Given the description of an element on the screen output the (x, y) to click on. 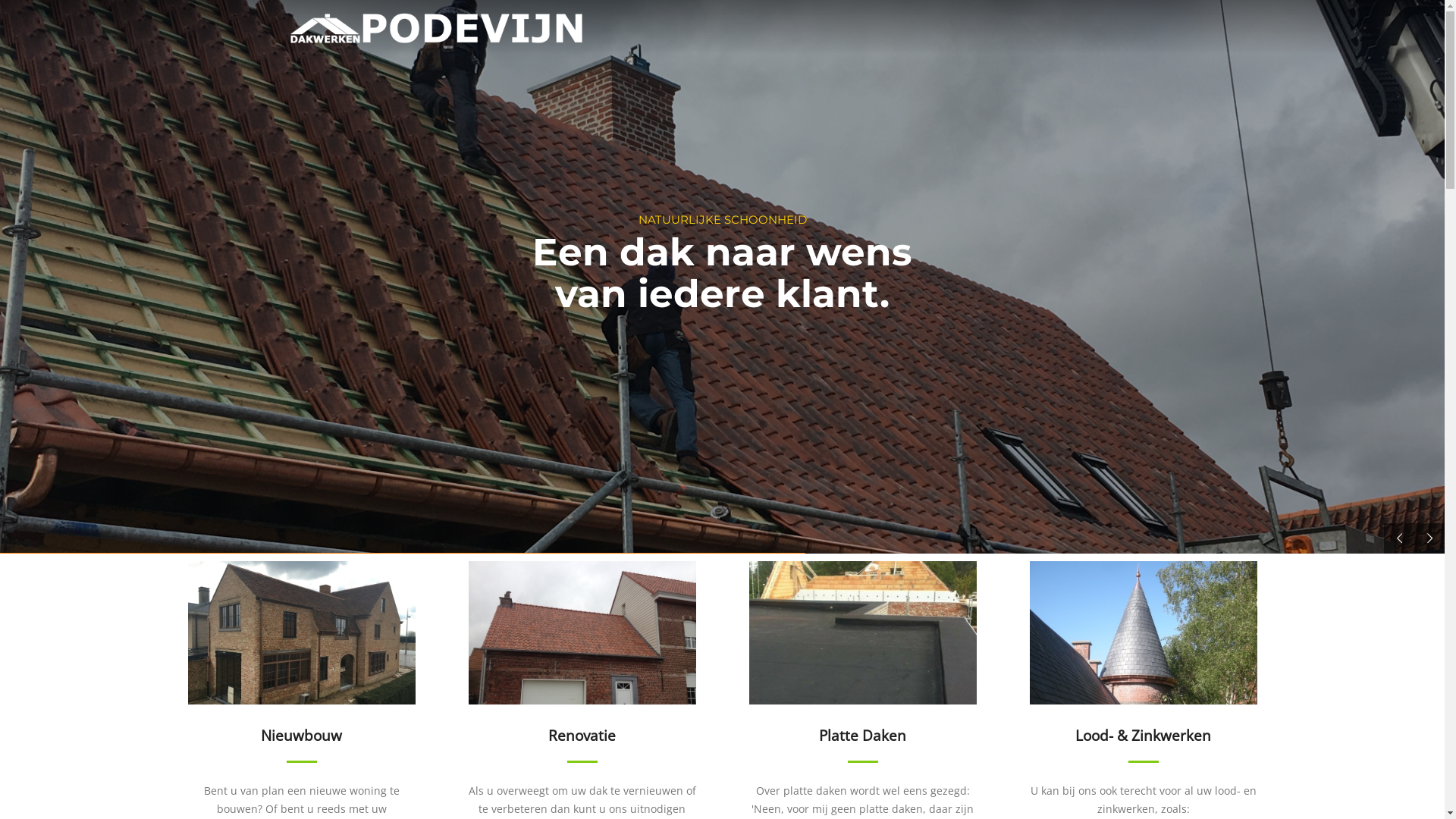
Nieuwbouw Element type: text (300, 661)
Platte Daken Element type: text (861, 661)
Lood- & Zinkwerken Element type: text (1142, 661)
Renovatie Element type: text (581, 661)
Dakwerken Podevijn Element type: hover (435, 30)
